Given the description of an element on the screen output the (x, y) to click on. 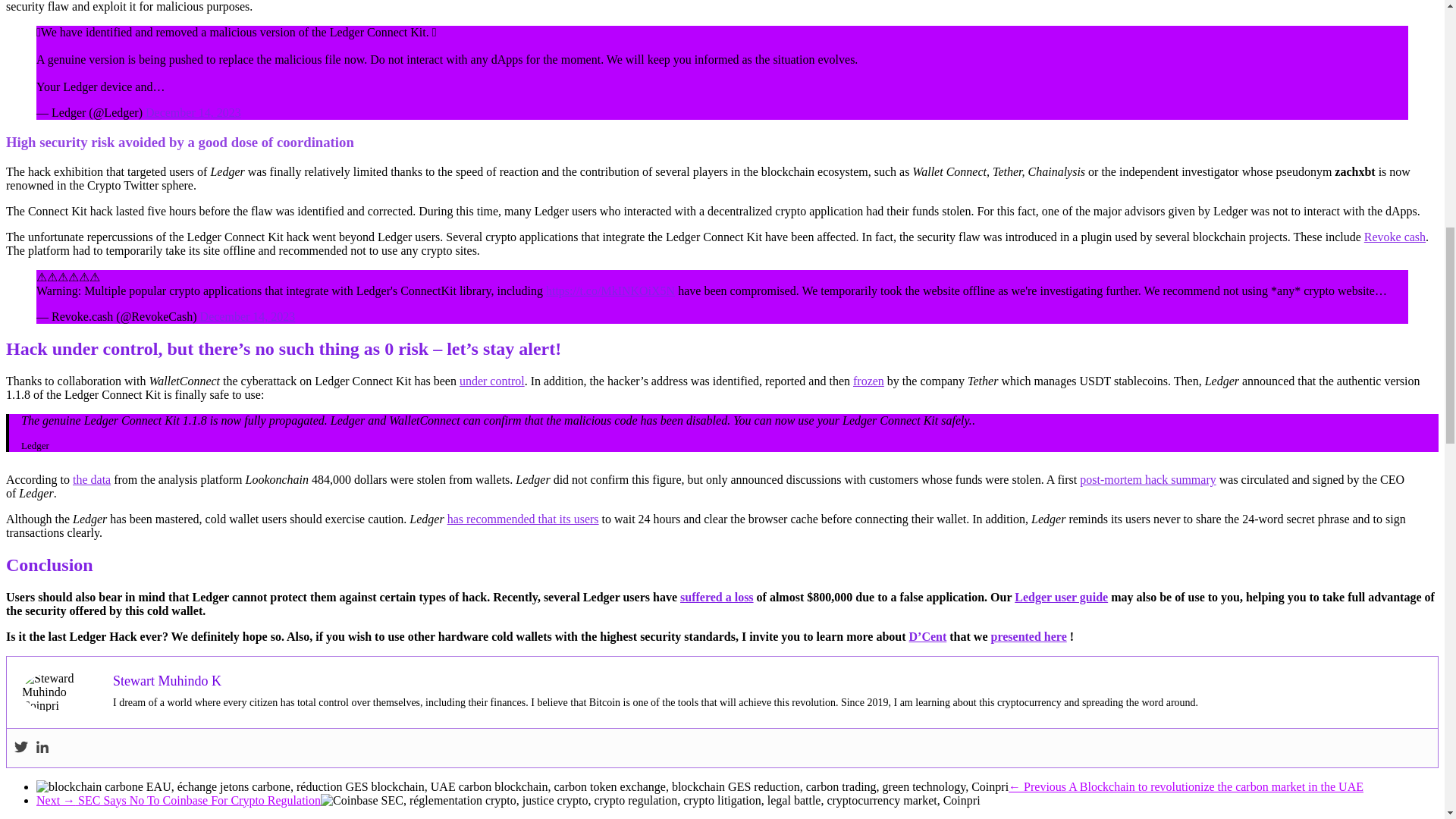
What Happened to the Ledger Hack on December 14th? (59, 691)
December 14, 2023 (247, 316)
Revoke cash (1394, 236)
under control (492, 380)
SEC Says No To Coinbase For Crypto Regulation (649, 799)
A Blockchain to revolutionize the carbon market in the UAE (522, 786)
December 14, 2023 (193, 112)
frozen (868, 380)
